Given the description of an element on the screen output the (x, y) to click on. 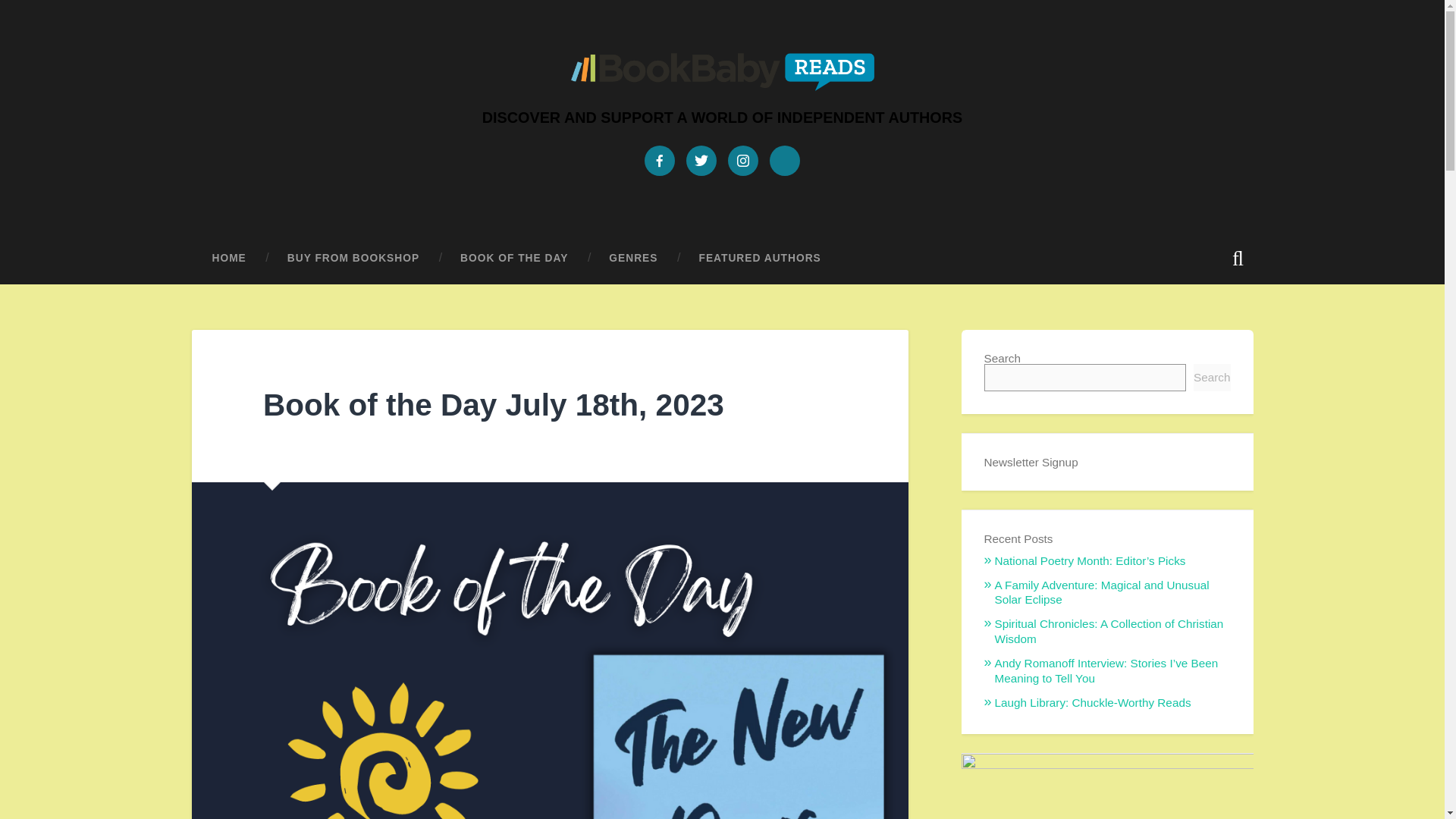
GENRES (633, 258)
FEATURED AUTHORS (759, 258)
BOOK OF THE DAY (513, 258)
HOME (228, 258)
Book of the Day July 18th, 2023 (493, 404)
BUY FROM BOOKSHOP (352, 258)
